Given the description of an element on the screen output the (x, y) to click on. 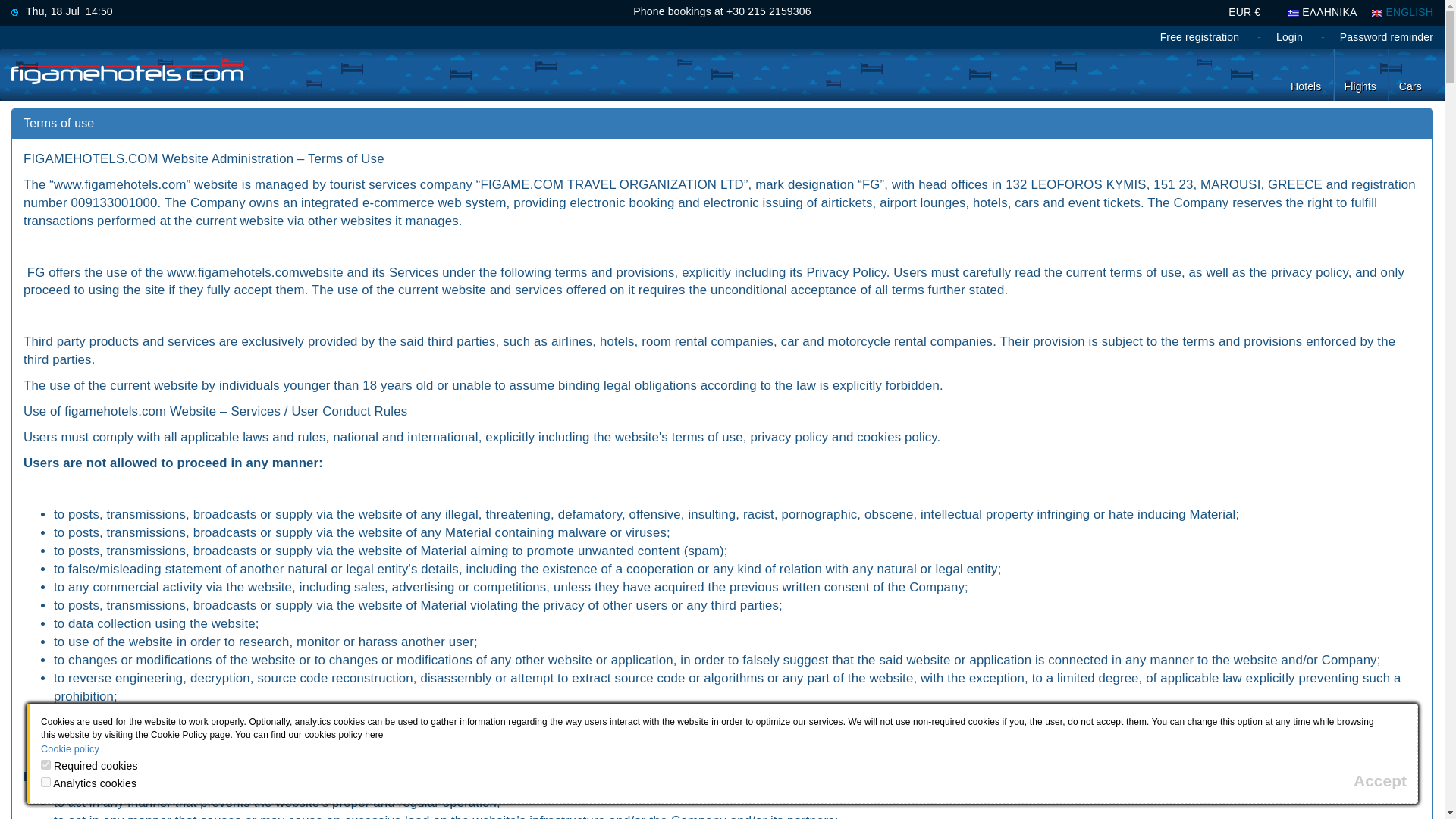
on (45, 782)
Cars (1409, 74)
Hotels (1306, 74)
Login (1289, 37)
on (45, 764)
Flights (1360, 74)
Free registration (1199, 37)
Time (14, 12)
ENGLISH (1376, 12)
Password reminder (1385, 37)
Change currency (1243, 12)
